Given the description of an element on the screen output the (x, y) to click on. 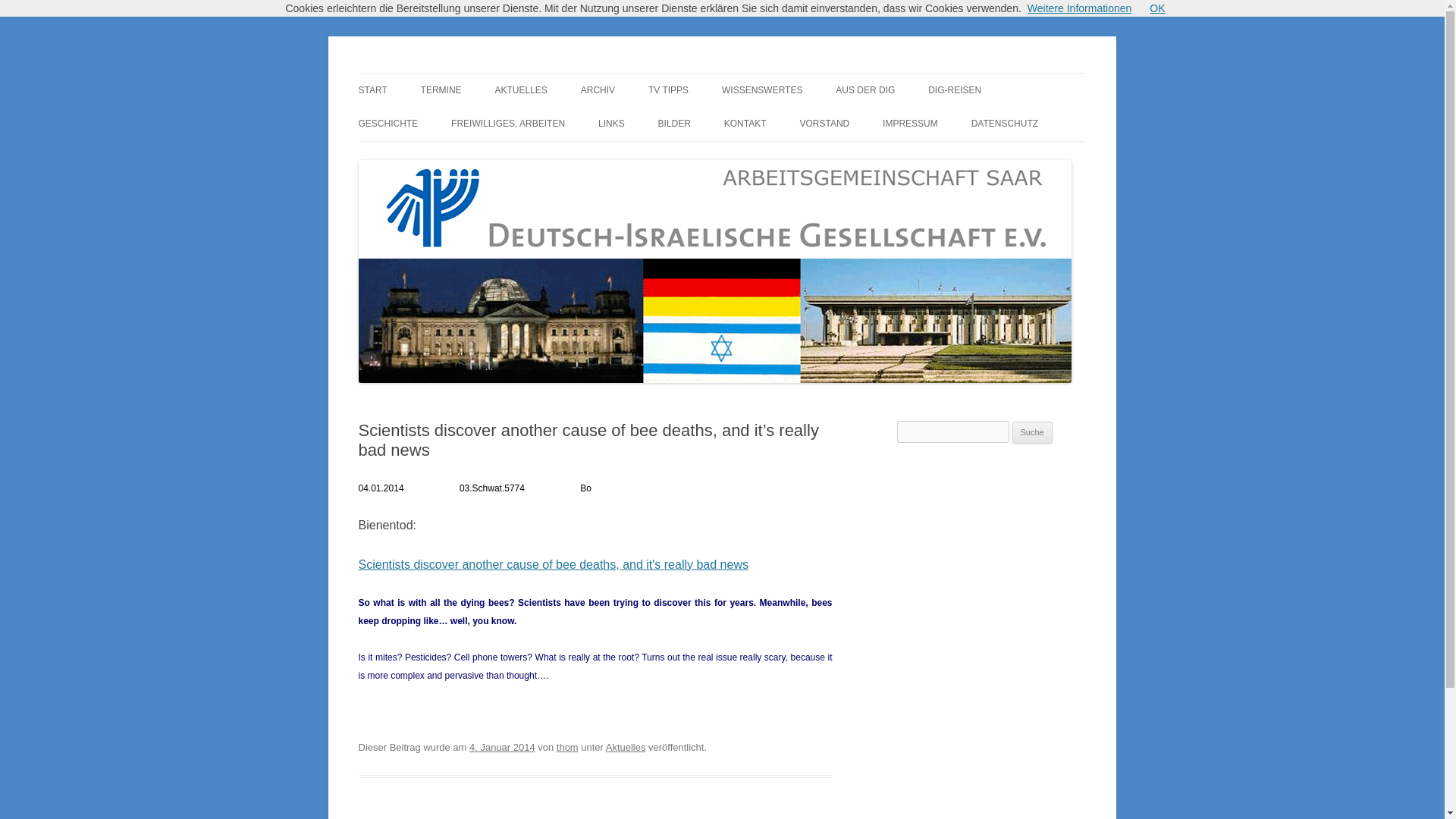
VORSTAND (823, 123)
07:26 (501, 747)
WISSENSWERTES (762, 90)
Suche (1031, 432)
START (372, 90)
LINKS (611, 123)
DIG Saar (399, 72)
ARCHIV (597, 90)
4. Januar 2014 (501, 747)
TERMINE (440, 90)
Suche (1031, 432)
TV TIPPS (667, 90)
AKTUELLES (521, 90)
GESCHICHTE ISRAELS (433, 155)
